Given the description of an element on the screen output the (x, y) to click on. 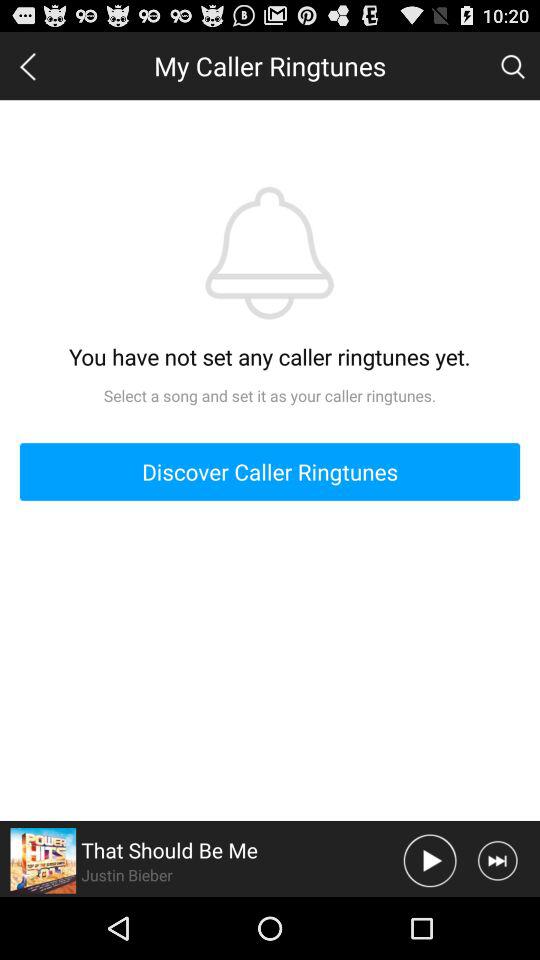
play song (429, 860)
